Given the description of an element on the screen output the (x, y) to click on. 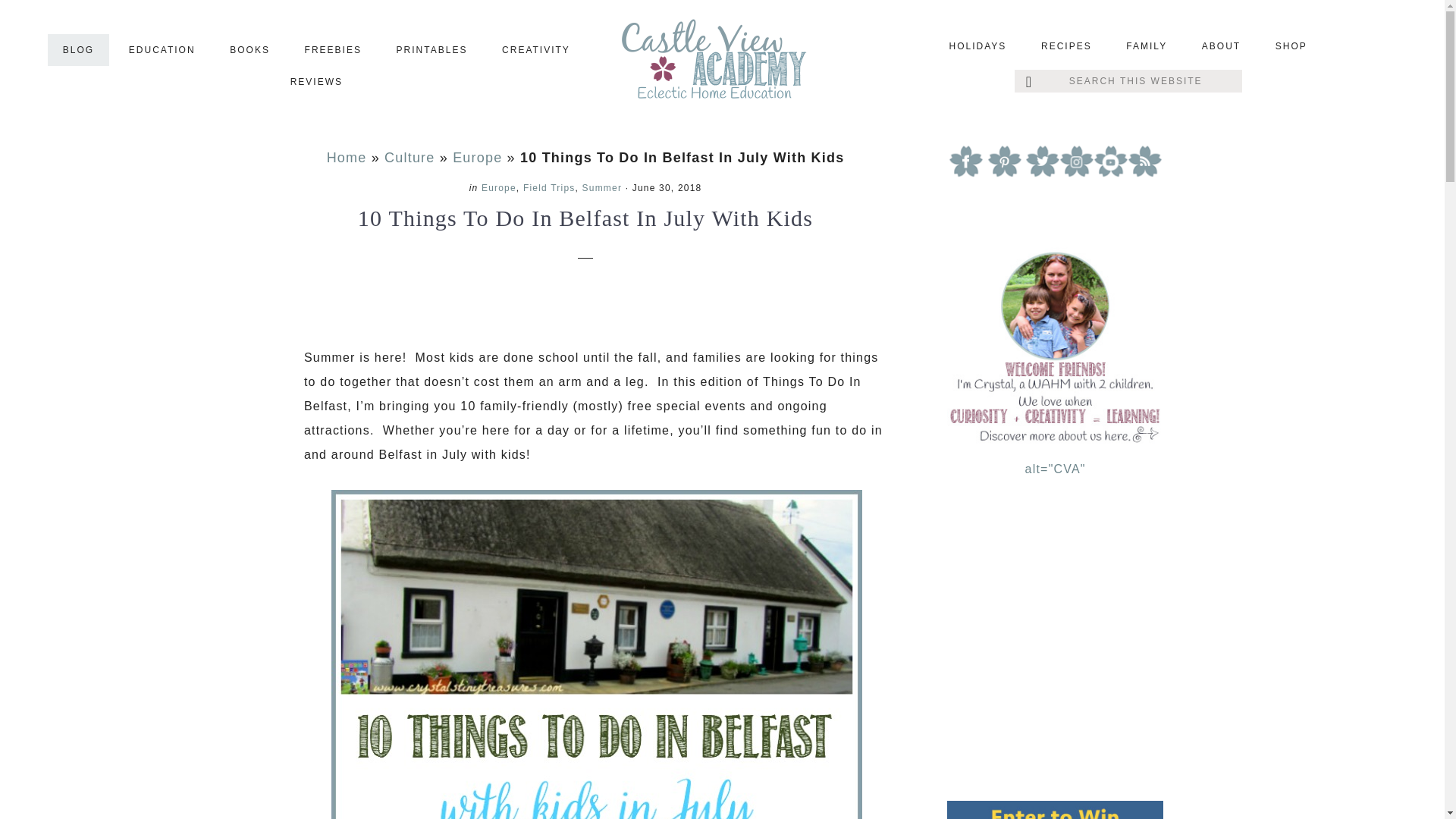
Save to Pinterest (298, 306)
BOOKS (249, 50)
FREEBIES (333, 50)
Share on LinkedIn (439, 306)
Share on Facebook (345, 306)
HOLIDAYS (978, 46)
CREATIVITY (535, 50)
Castle View Academy (722, 64)
Share on Buffer (485, 306)
